Given the description of an element on the screen output the (x, y) to click on. 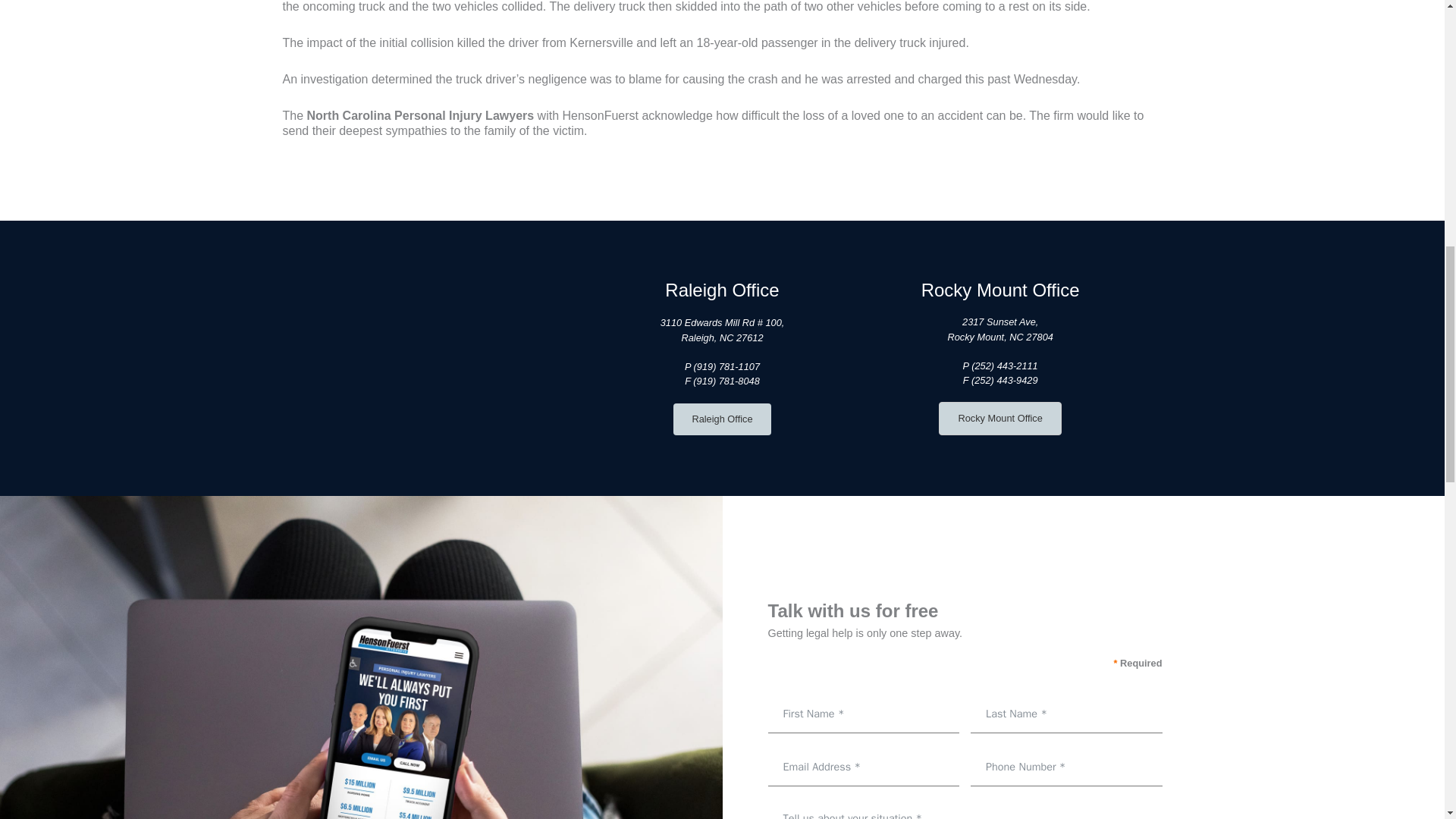
map-pin-icon-w (443, 358)
